Given the description of an element on the screen output the (x, y) to click on. 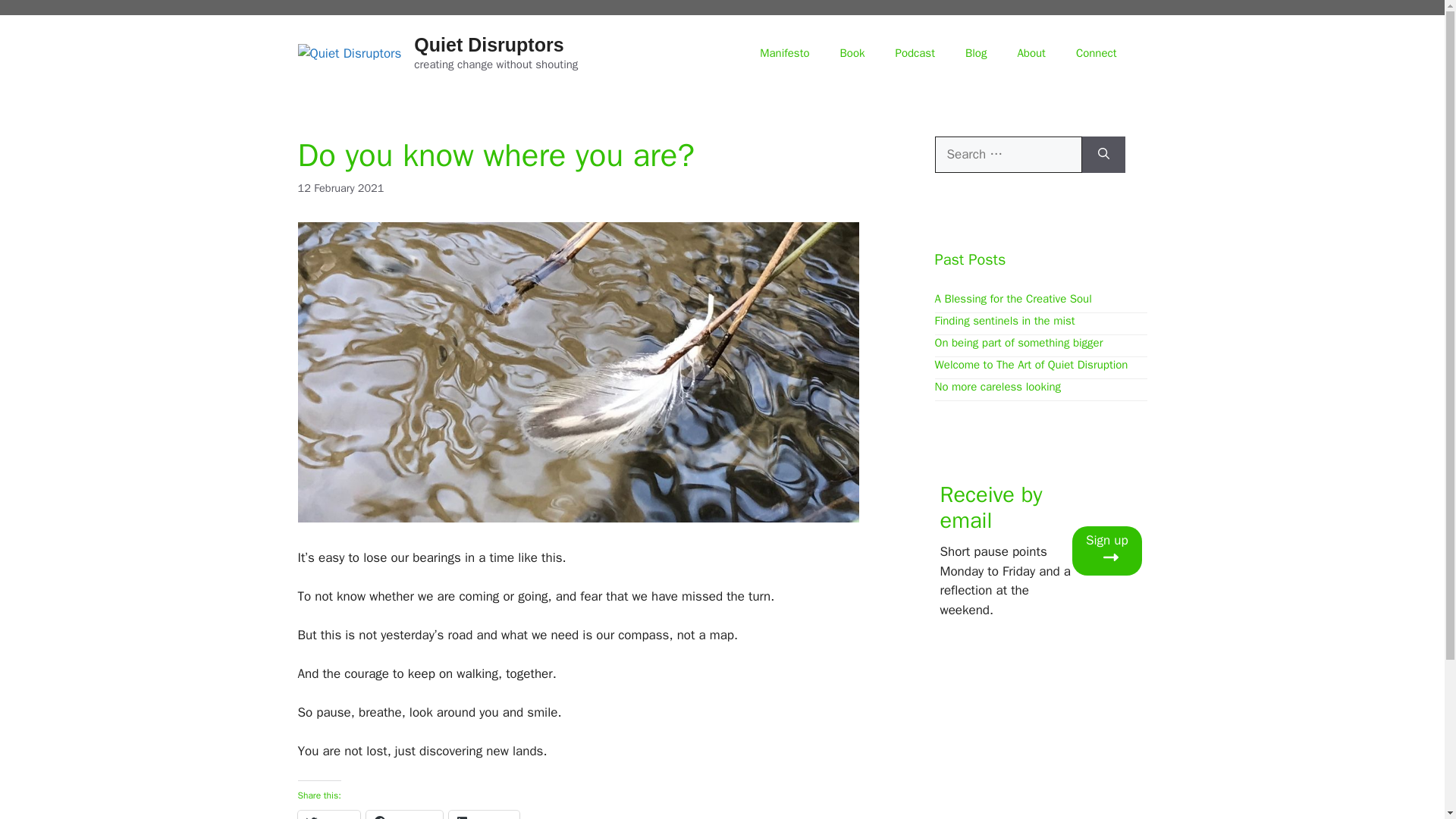
On being part of something bigger (1018, 341)
Search for: (1007, 154)
Click to share on LinkedIn (483, 814)
About (1030, 53)
Quiet Disruptors (488, 44)
A Blessing for the Creative Soul (1012, 297)
Twitter (328, 814)
Facebook (404, 814)
Click to share on Twitter (328, 814)
Blog (975, 53)
